Given the description of an element on the screen output the (x, y) to click on. 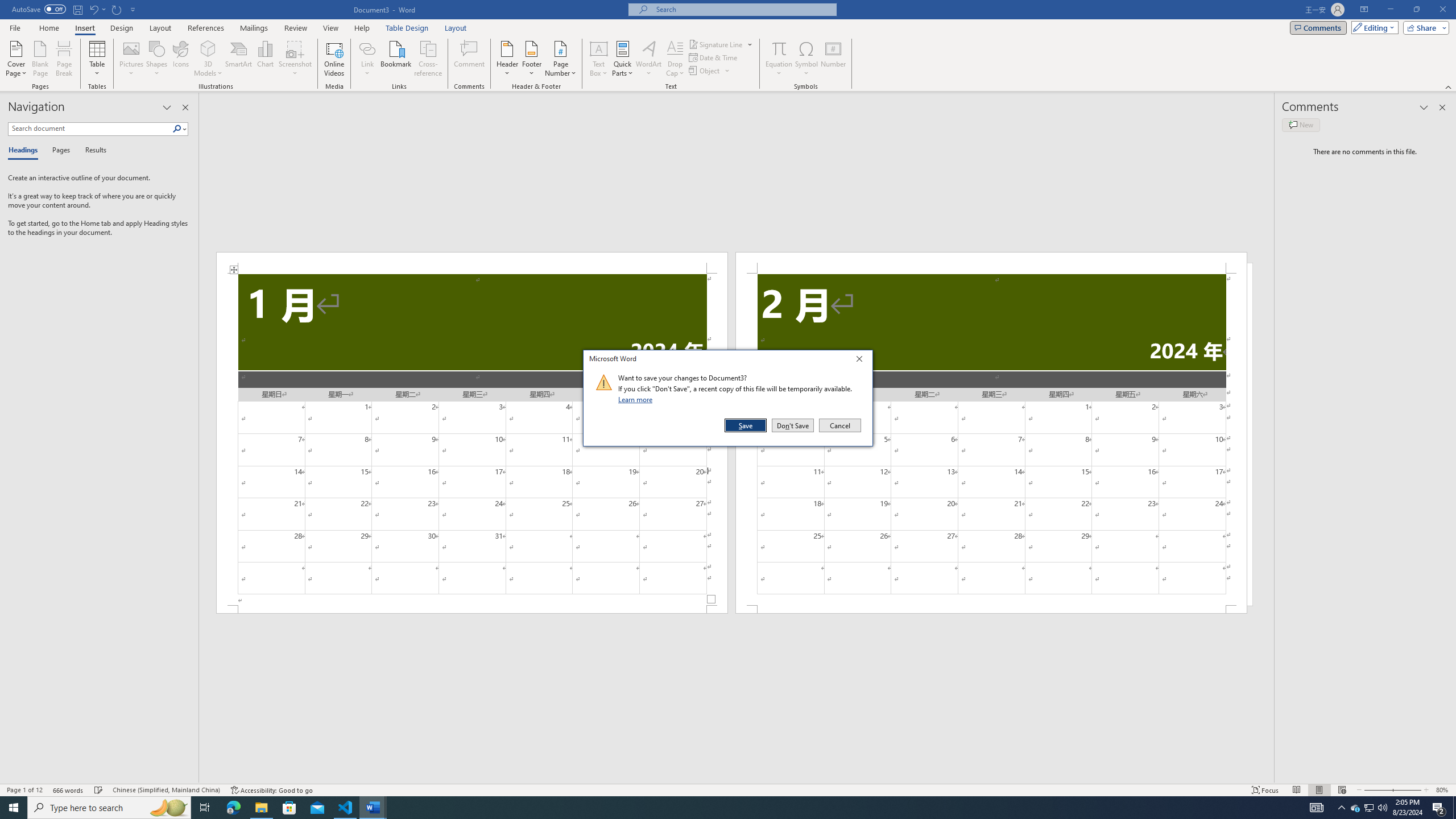
Blank Page (40, 58)
Header (507, 58)
Signature Line (721, 44)
Object... (709, 69)
